Given the description of an element on the screen output the (x, y) to click on. 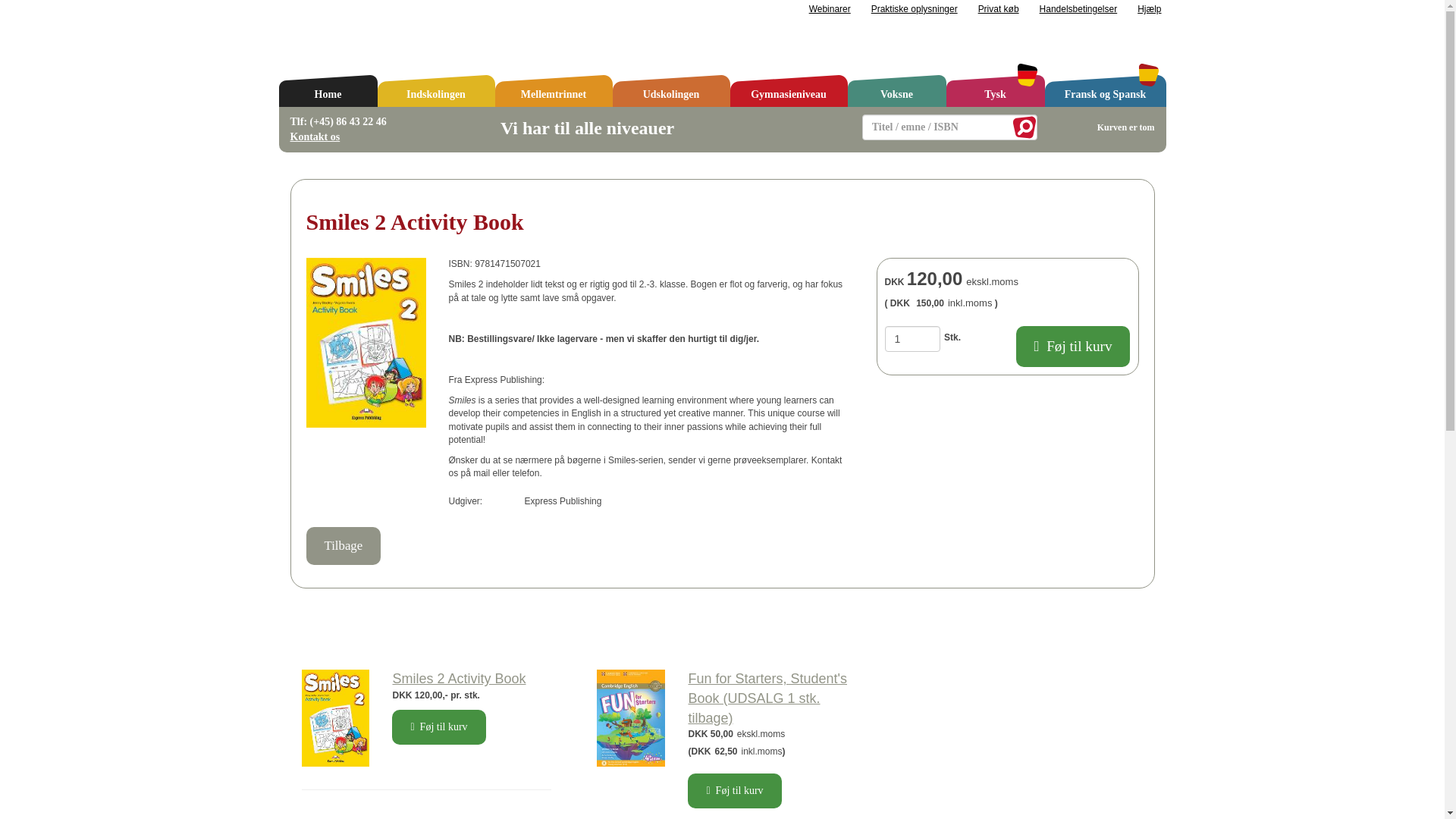
Mellemtrinnet (553, 91)
Smiles 2 Activity Book (458, 678)
Voksne (896, 91)
Praktiske oplysninger (914, 9)
Webinarer (830, 9)
1 (912, 338)
Tilbage (343, 546)
Kontakt os (314, 136)
Handelsbetingelser (1078, 9)
Indskolingen (436, 91)
